Given the description of an element on the screen output the (x, y) to click on. 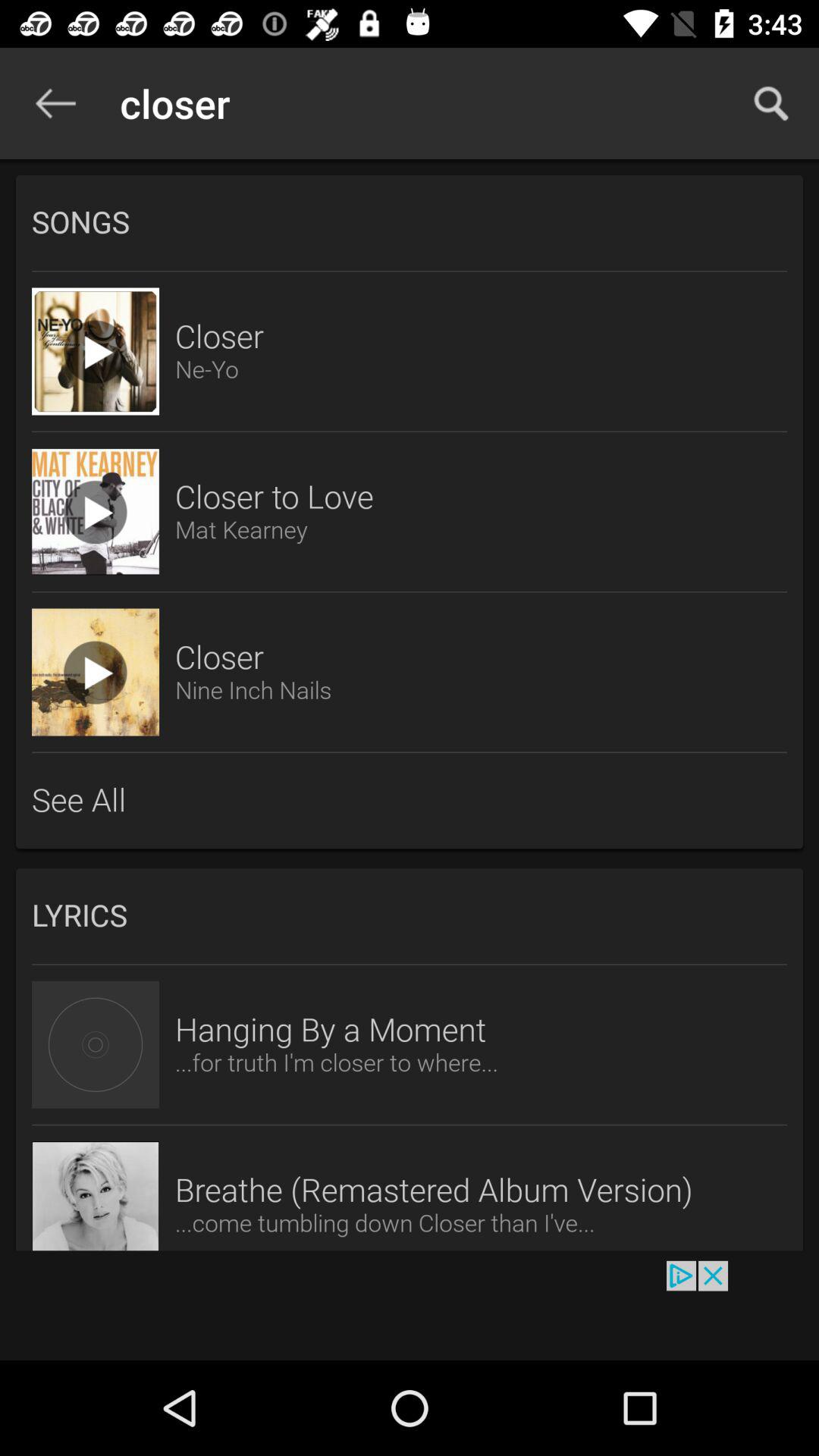
launch item below the see all icon (409, 916)
